Given the description of an element on the screen output the (x, y) to click on. 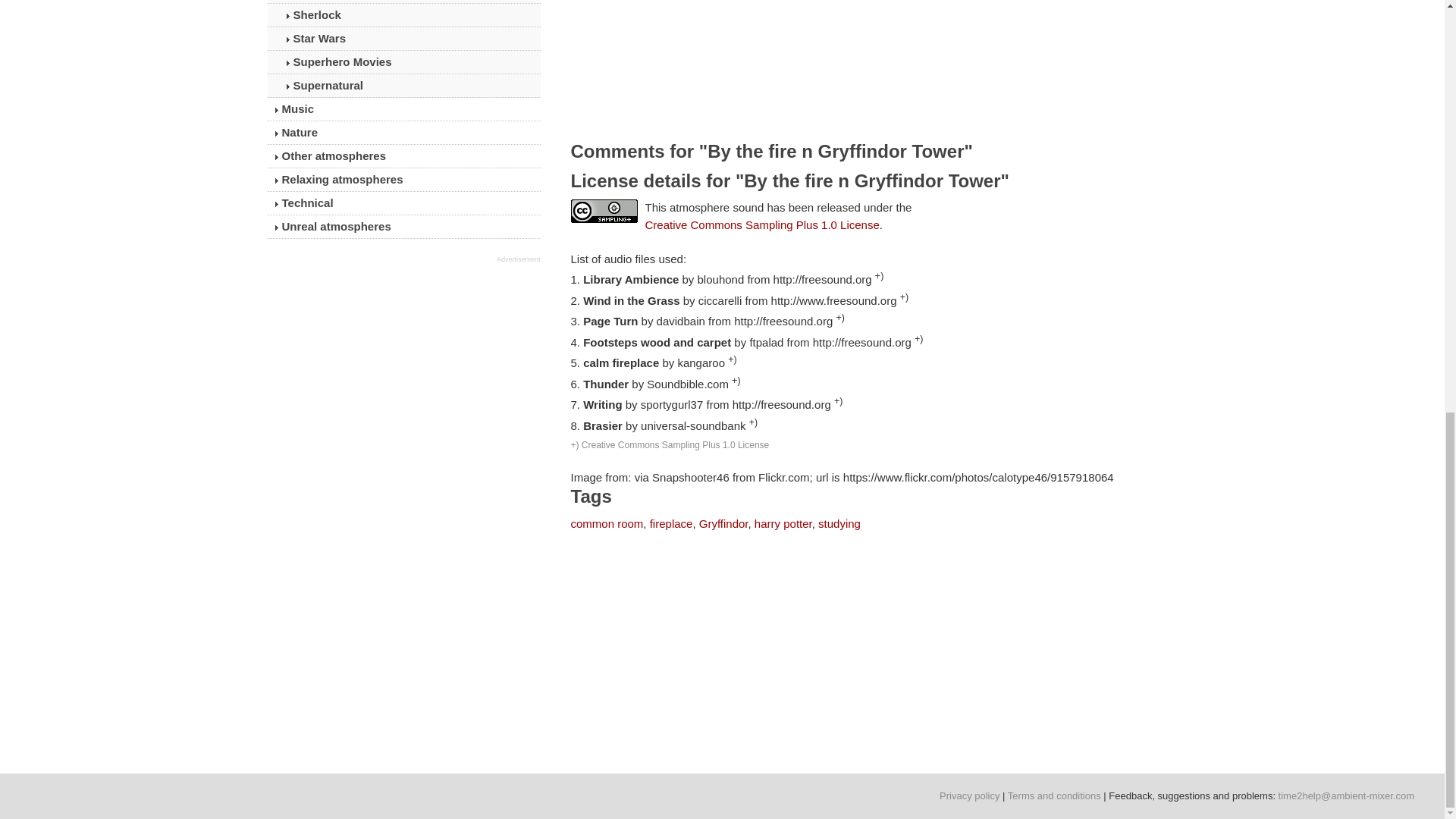
Other movie and series themed sounds (403, 1)
Technical (403, 202)
Star Wars themed sounds (403, 38)
Supernatural (403, 85)
Nature (403, 132)
Relaxing atmospheres (403, 179)
Marvel and DC comic inspired movie sounds (403, 61)
Supernatural themed sounds (403, 85)
Other atmospheres (403, 155)
Star Wars (403, 38)
Music (403, 108)
Superhero Movies (403, 61)
Sherlock (403, 15)
Sherlock themed sounds (403, 15)
Other (403, 1)
